Given the description of an element on the screen output the (x, y) to click on. 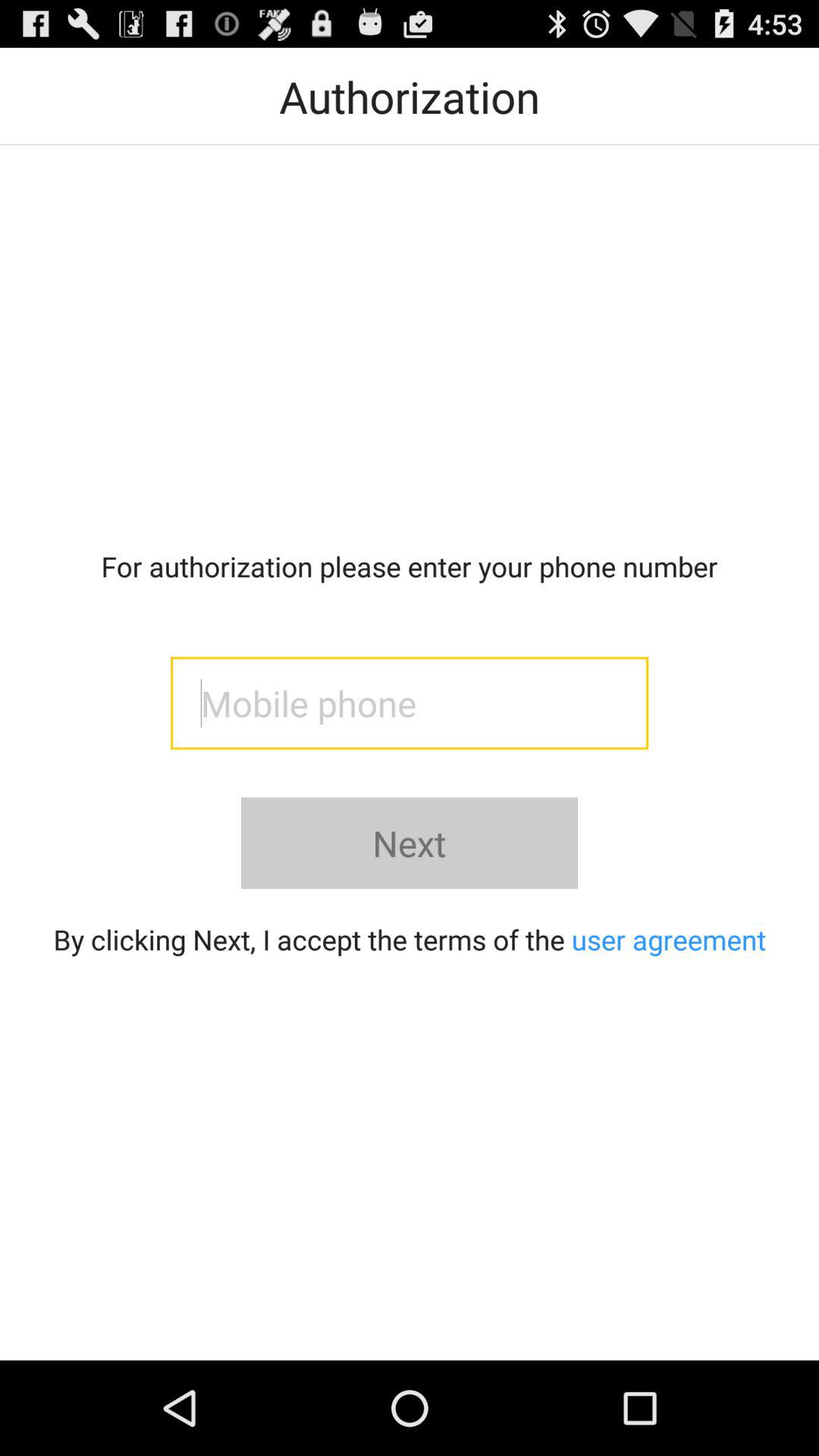
select button below the next icon (409, 939)
